Given the description of an element on the screen output the (x, y) to click on. 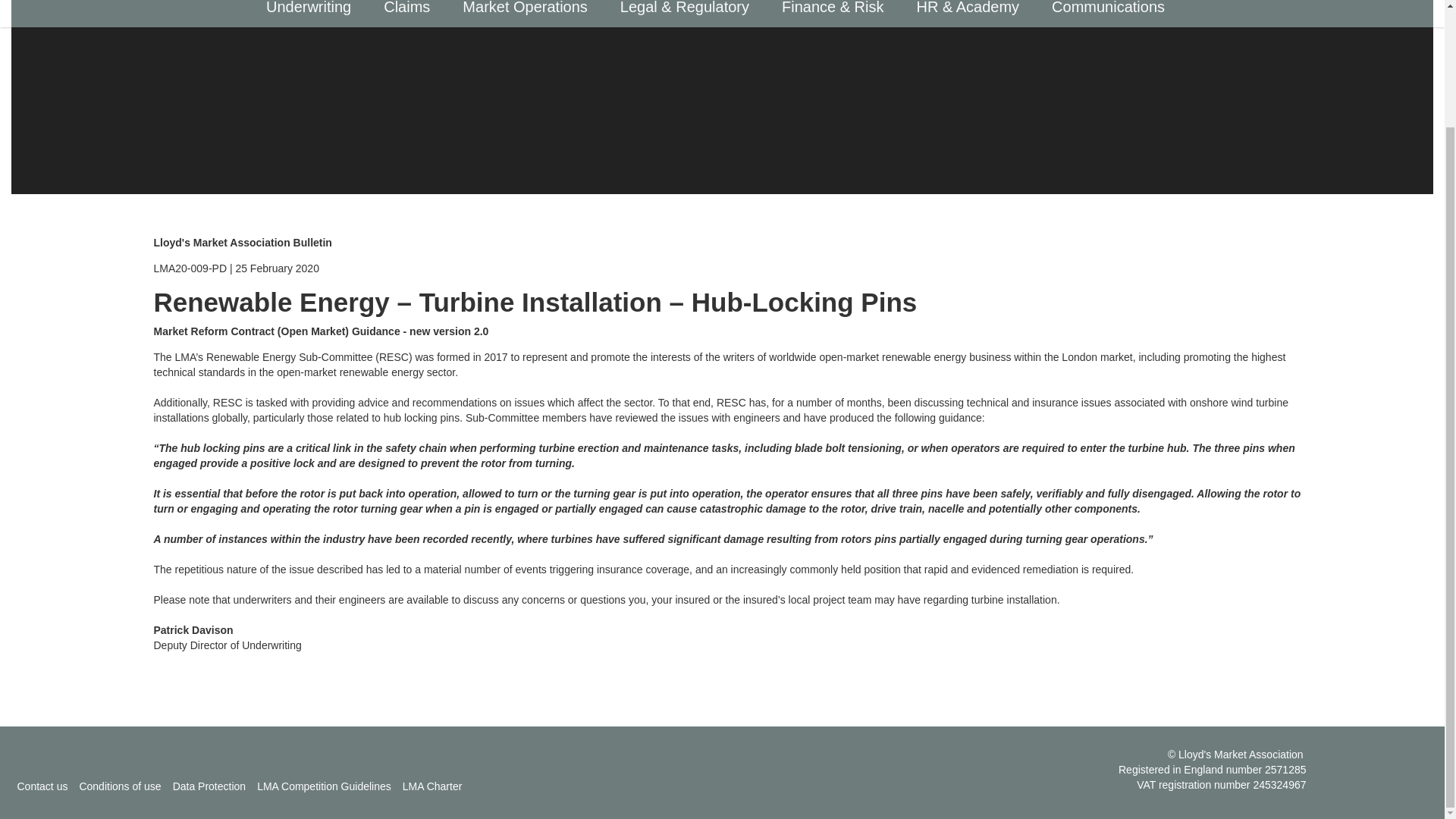
Underwriting (312, 12)
Market Operations (529, 12)
Claims (410, 12)
